Given the description of an element on the screen output the (x, y) to click on. 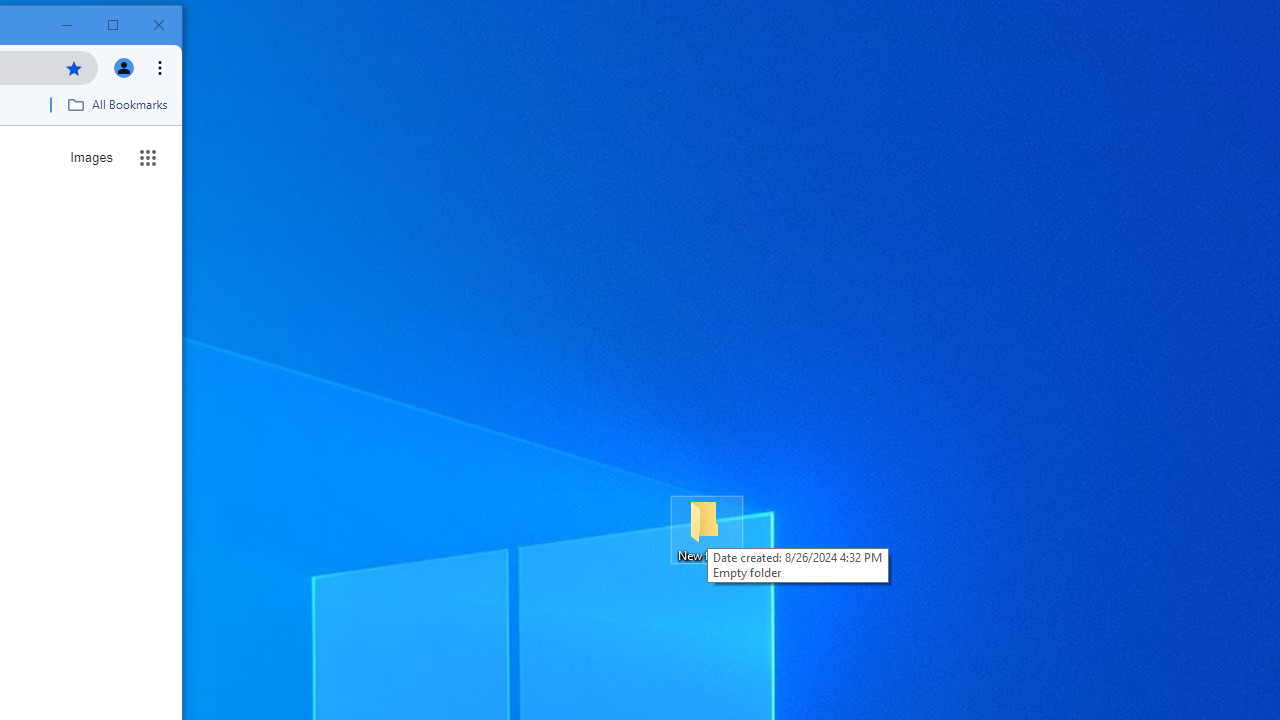
New folder (706, 530)
